Given the description of an element on the screen output the (x, y) to click on. 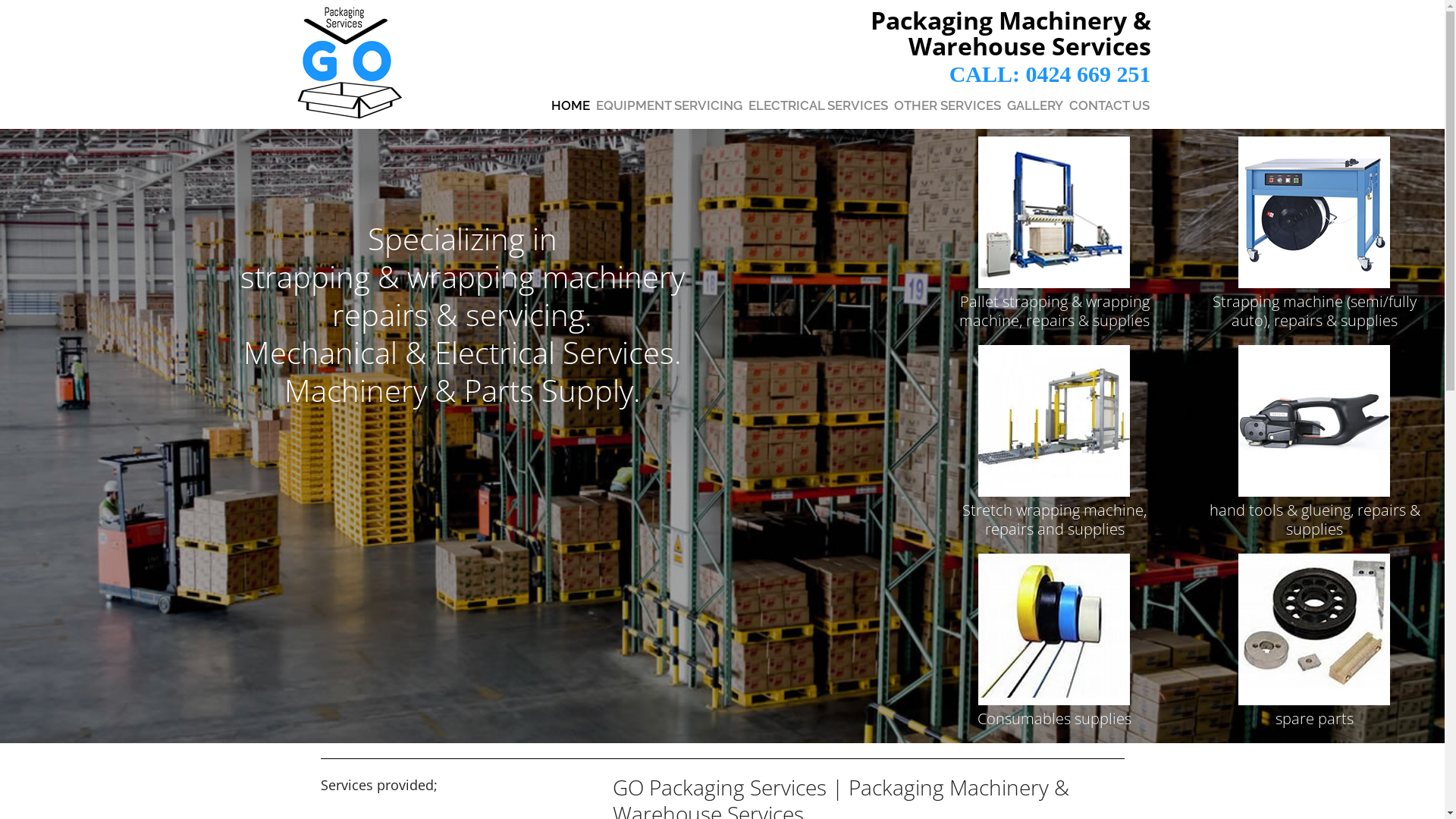
EQUIPMENT SERVICING Element type: text (668, 105)
HOME Element type: text (569, 105)
CALL: 0424 669 251 Element type: text (1050, 73)
OTHER SERVICES Element type: text (946, 105)
ELECTRICAL SERVICES Element type: text (817, 105)
CONTACT US Element type: text (1109, 105)
GALLERY Element type: text (1034, 105)
Go Packaging Services Element type: text (353, 64)
